Given the description of an element on the screen output the (x, y) to click on. 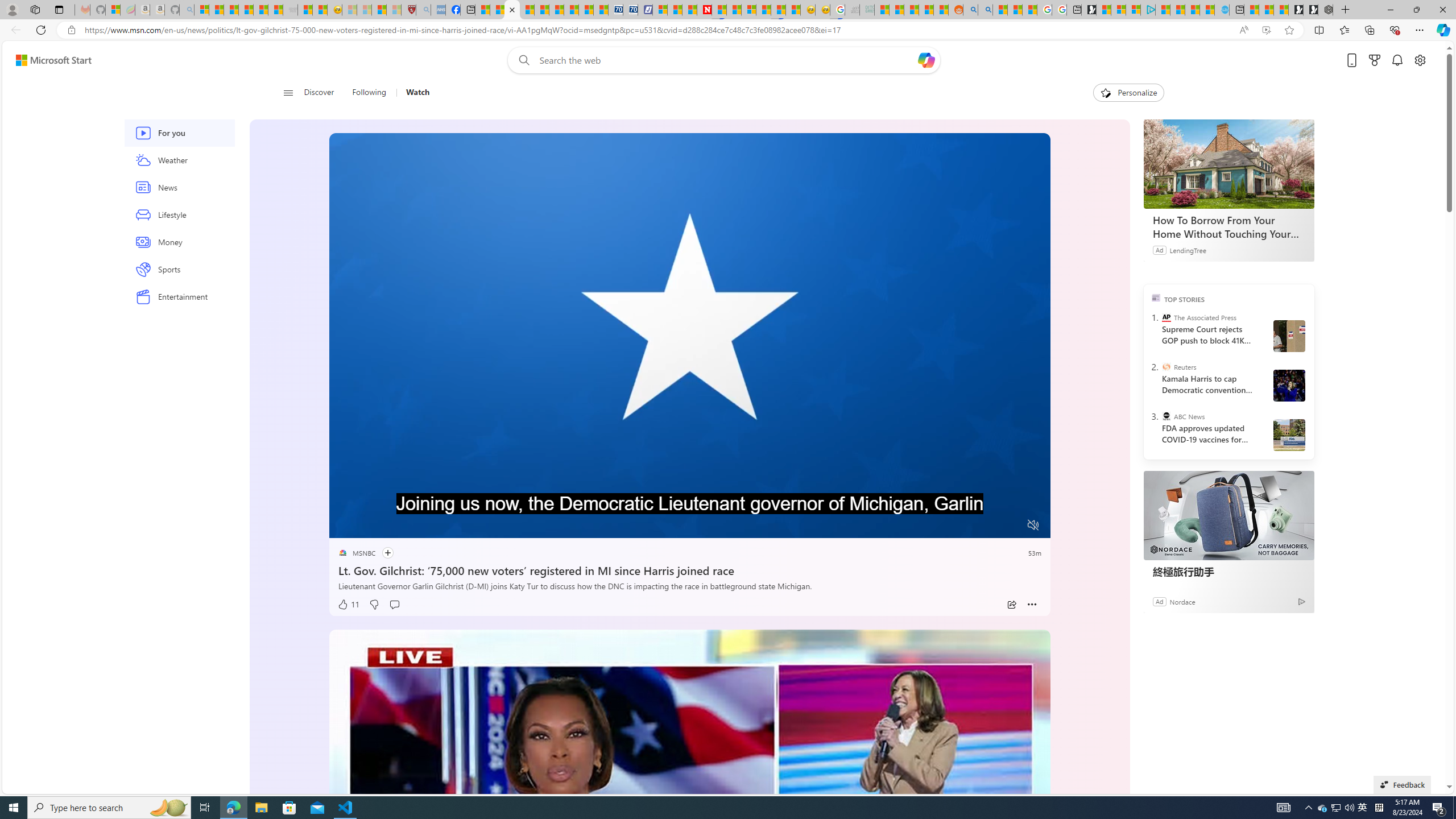
 Harris and Walz campaign in Wisconsin (1288, 385)
Fullscreen (1011, 525)
Reuters (1165, 366)
Unmute (1033, 524)
LendingTree (1188, 249)
